Given the description of an element on the screen output the (x, y) to click on. 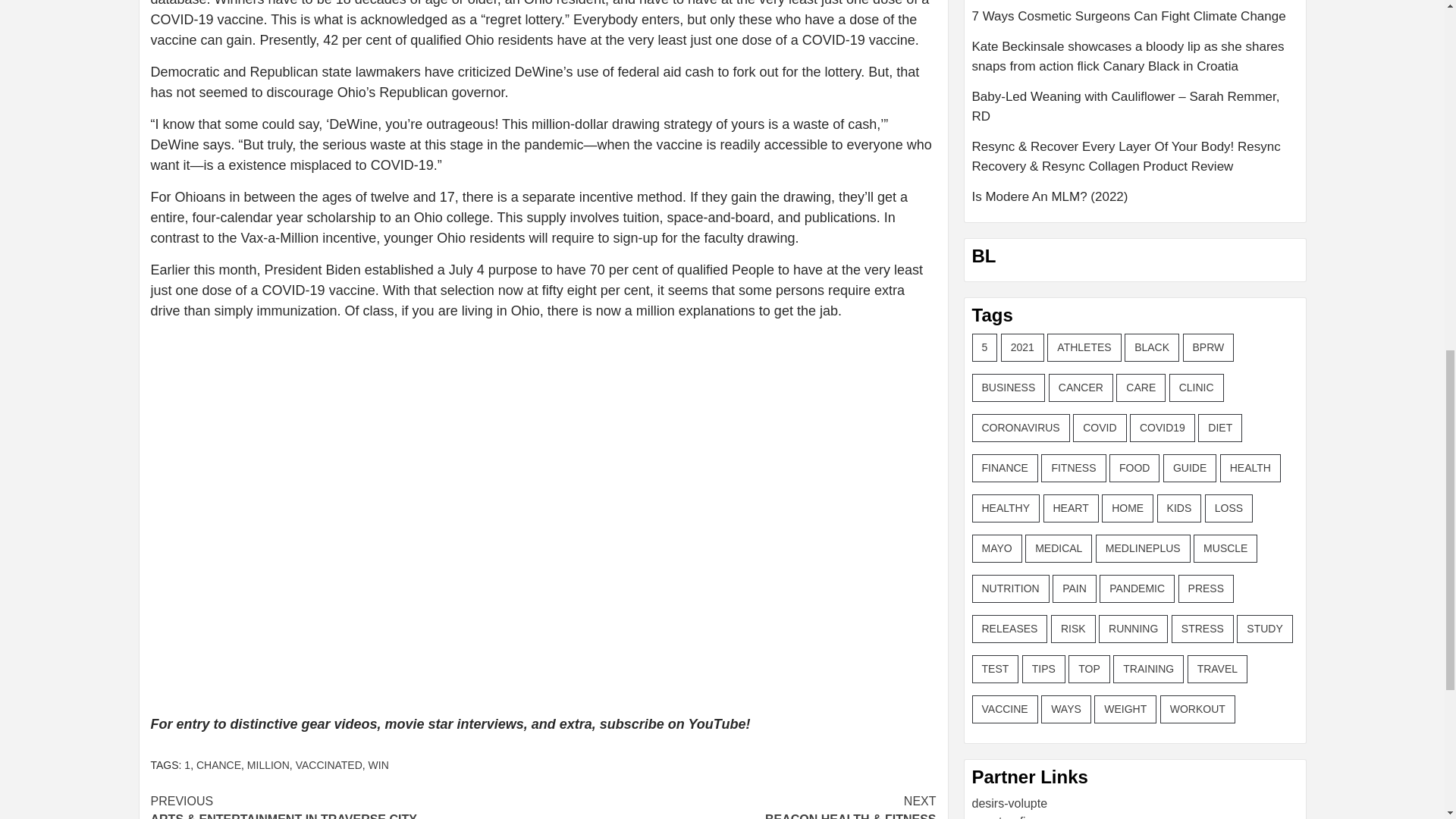
CHANCE (218, 765)
WIN (378, 765)
MILLION (268, 765)
BPRW (1208, 347)
7 Ways Cosmetic Surgeons Can Fight Climate Change (1135, 21)
ATHLETES (1083, 347)
BLACK (1151, 347)
VACCINATED (328, 765)
BUSINESS (1008, 387)
